Given the description of an element on the screen output the (x, y) to click on. 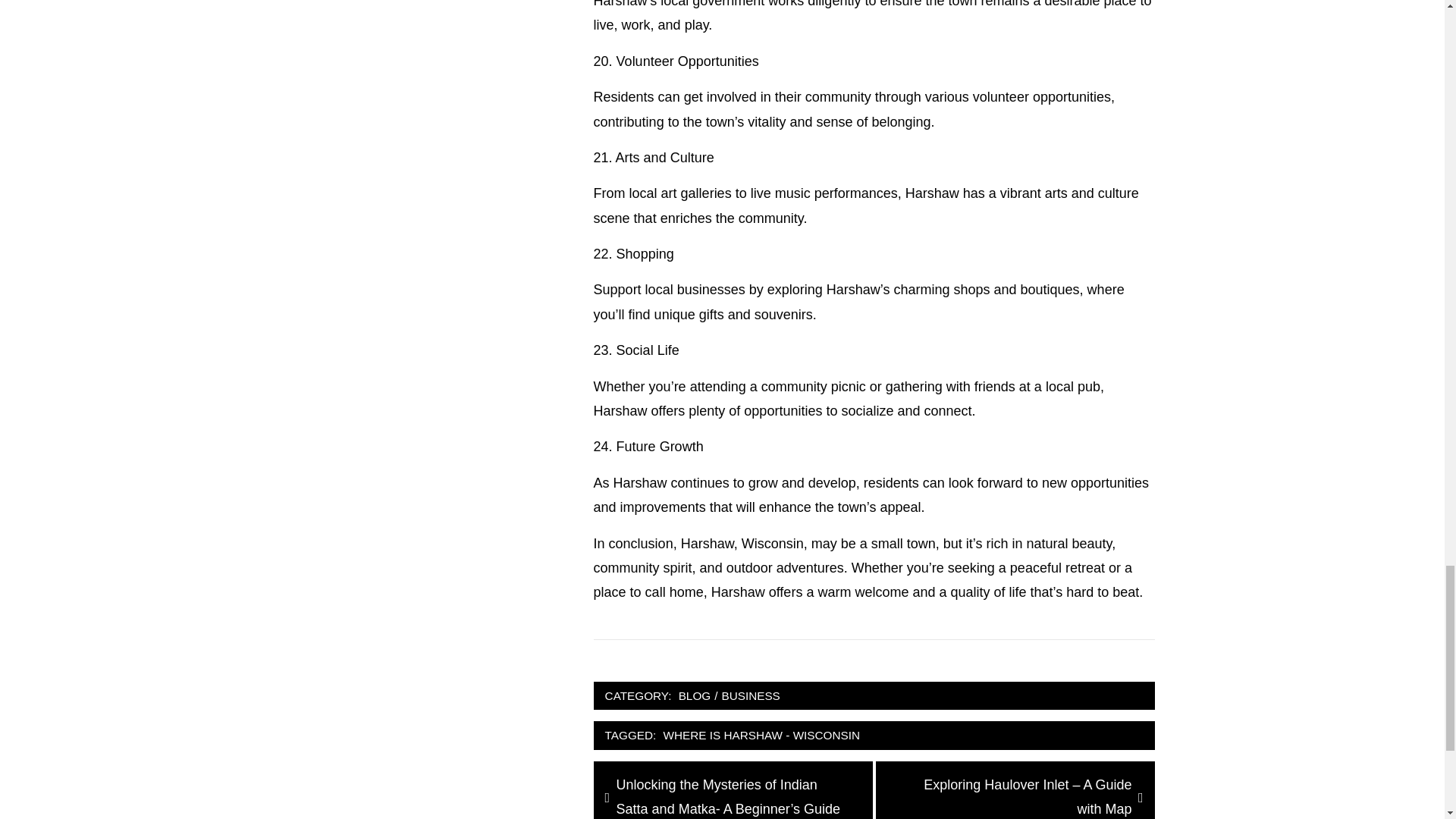
WHERE IS HARSHAW - WISCONSIN (761, 735)
BUSINESS (750, 695)
BLOG (694, 695)
